Given the description of an element on the screen output the (x, y) to click on. 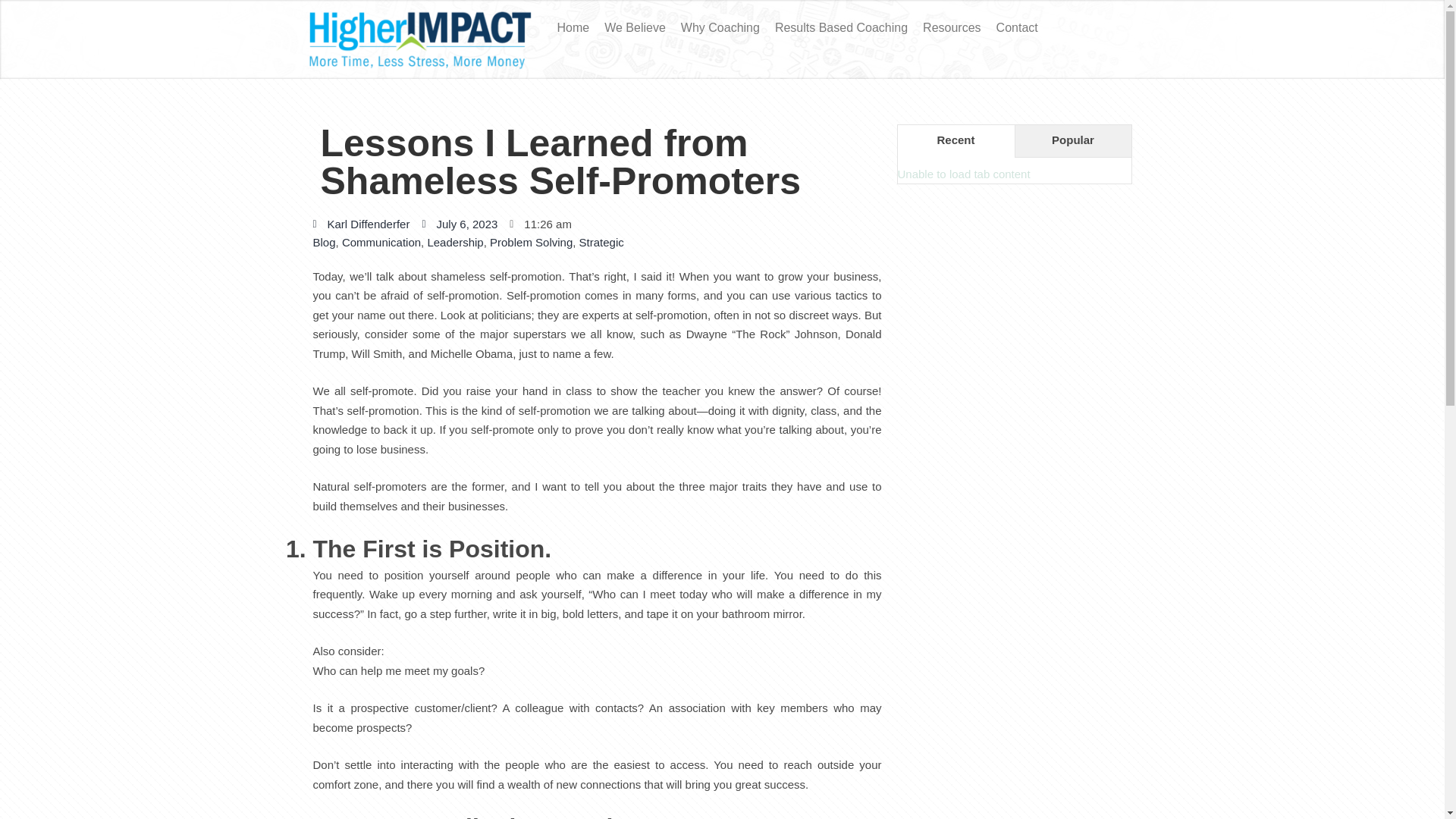
Results Based Coaching (841, 28)
Why Coaching (719, 28)
Resources (951, 28)
We Believe (634, 28)
Contact (1016, 28)
